Given the description of an element on the screen output the (x, y) to click on. 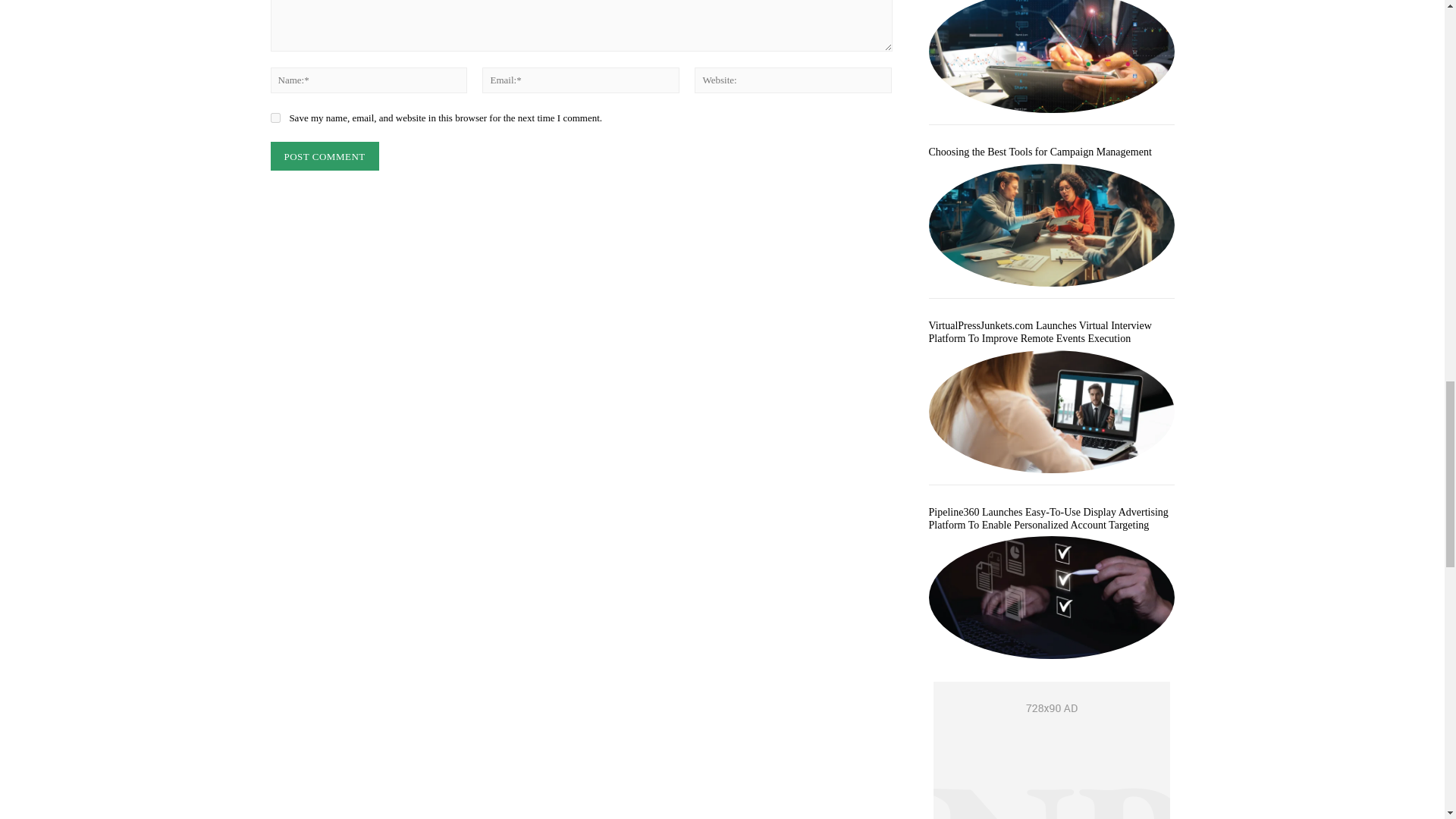
Post Comment (323, 156)
yes (274, 117)
